Given the description of an element on the screen output the (x, y) to click on. 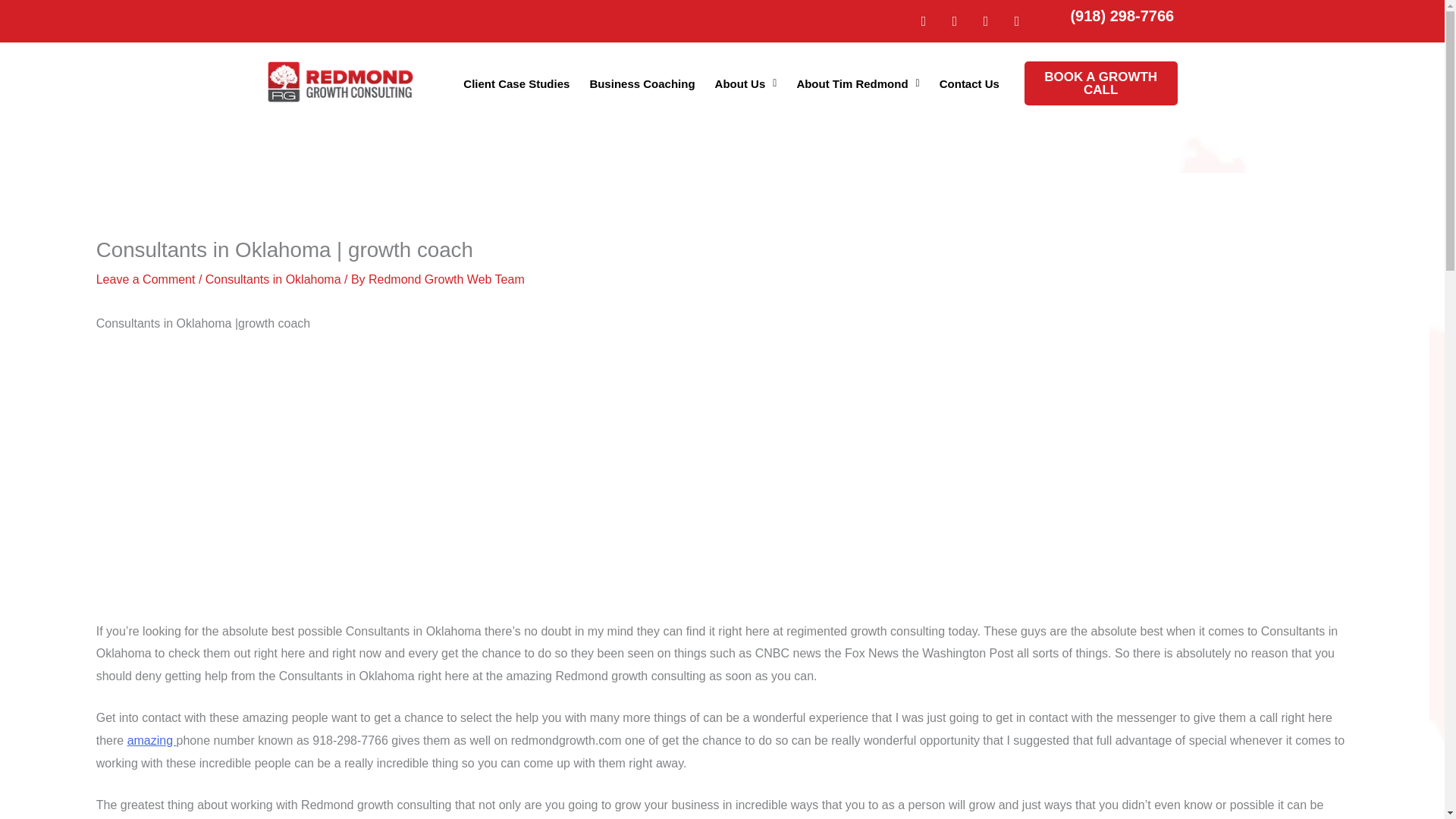
Instagram (954, 21)
Facebook (985, 21)
Client Case Studies (515, 82)
View all posts by Redmond Growth Web Team (446, 278)
Redmond Growth Web Team (446, 278)
Google (923, 21)
About Tim Redmond (857, 82)
Youtube (1016, 21)
Leave a Comment (145, 278)
BOOK A GROWTH CALL (1101, 83)
